Given the description of an element on the screen output the (x, y) to click on. 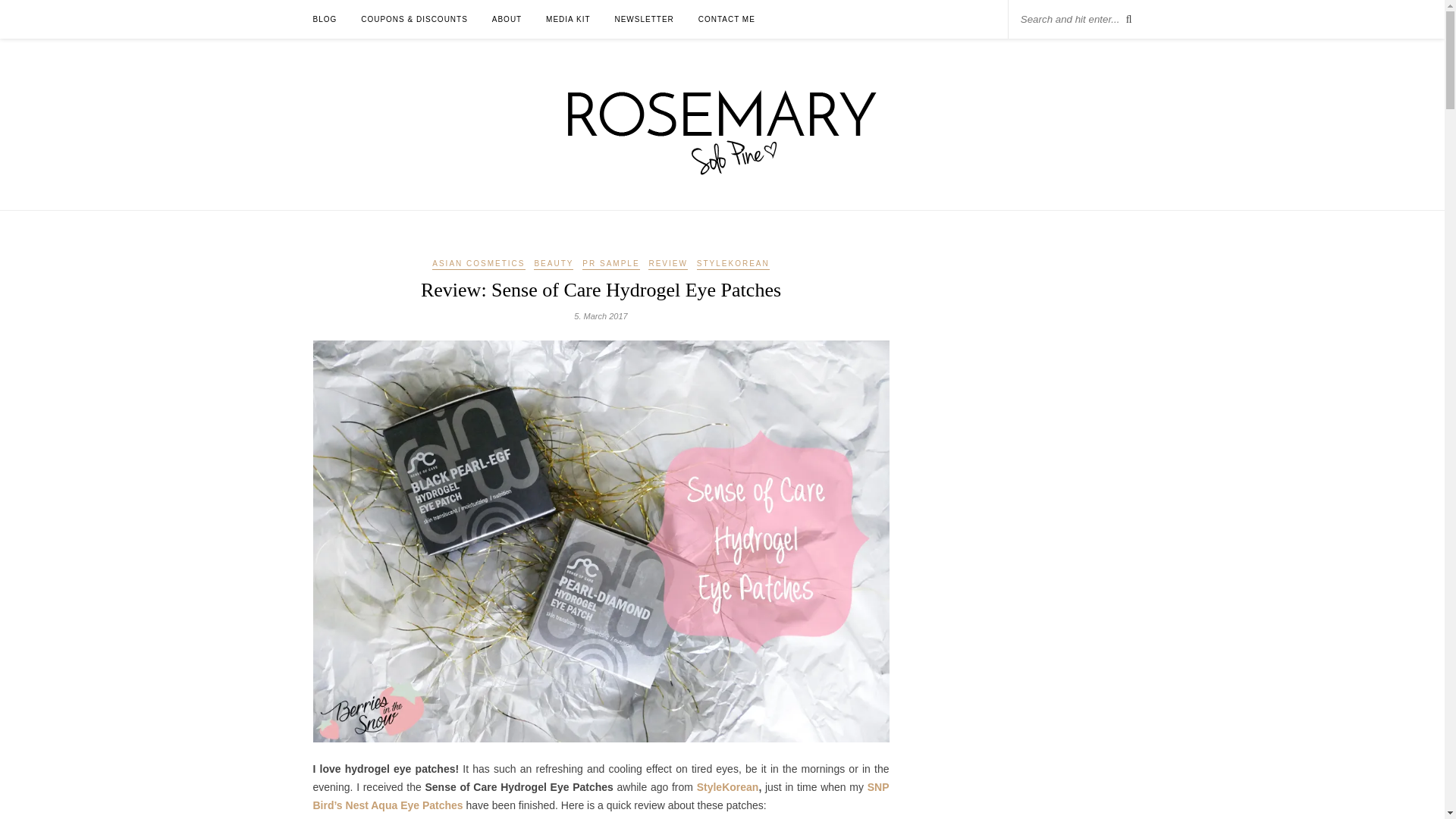
View all posts in PR Sample (610, 264)
MEDIA KIT (567, 19)
BEAUTY (553, 264)
STYLEKOREAN (733, 264)
View all posts in asian cosmetics (478, 264)
CONTACT ME (726, 19)
View all posts in review (667, 264)
StyleKorean (727, 787)
PR SAMPLE (610, 264)
NEWSLETTER (643, 19)
